Given the description of an element on the screen output the (x, y) to click on. 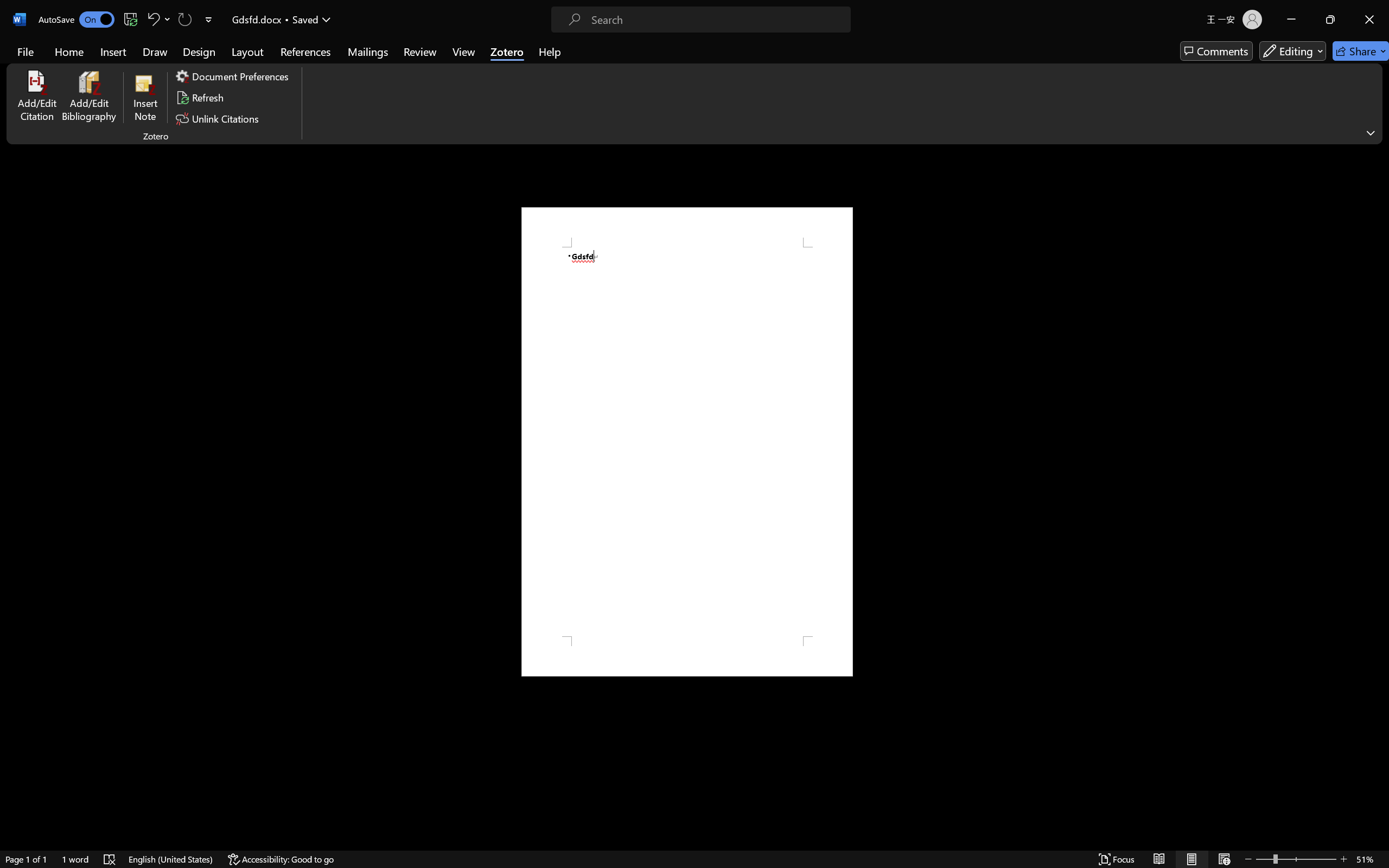
Page 1 content (686, 441)
